Given the description of an element on the screen output the (x, y) to click on. 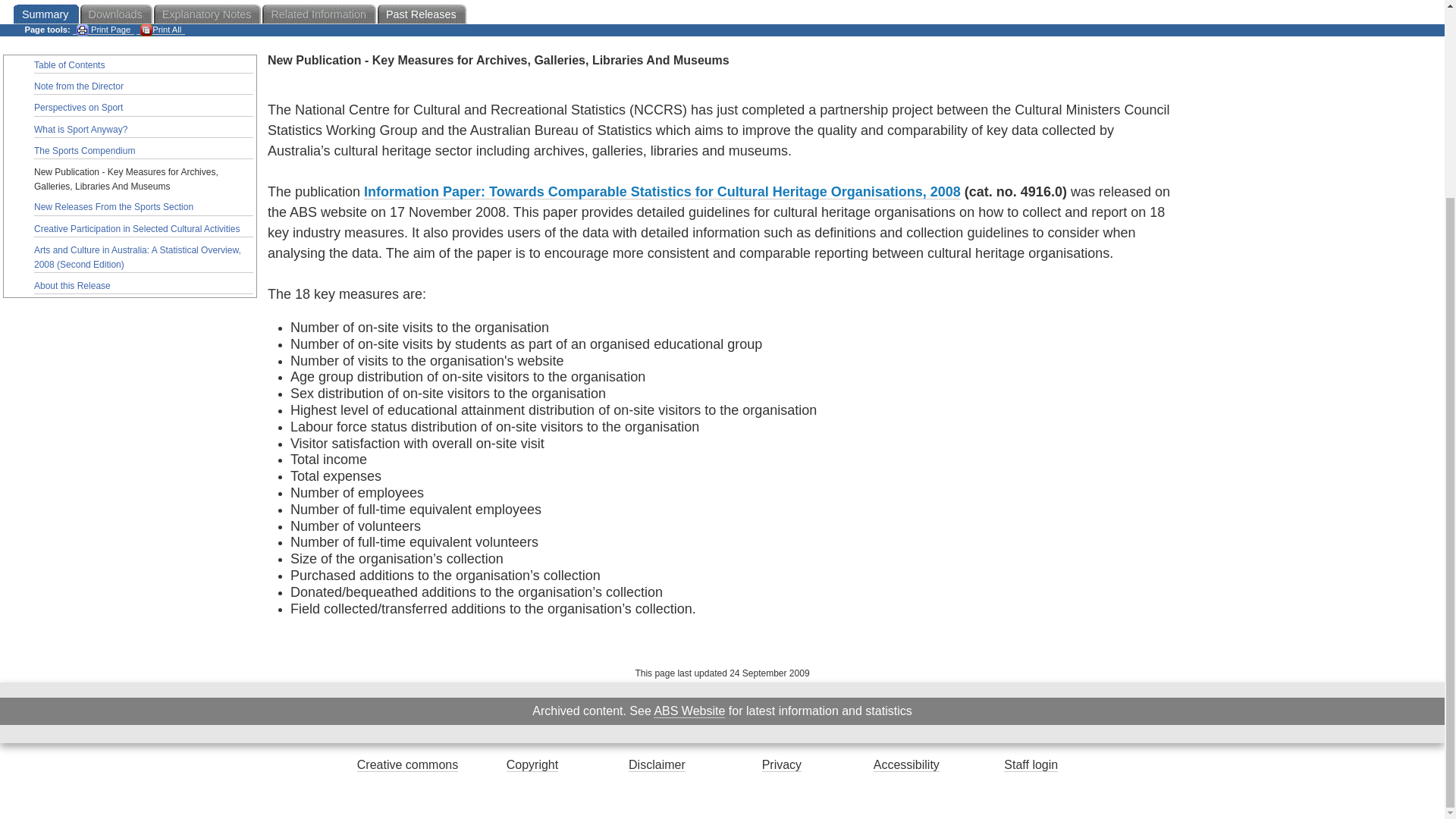
Print Page (102, 30)
New Releases From the Sports Section (143, 207)
Print All (160, 30)
About this Release (143, 286)
Summary (46, 14)
ABS Website (689, 711)
The Sports Compendium (143, 151)
What is Sport Anyway? (143, 130)
Print All (160, 30)
Creative Participation in Selected Cultural Activities (143, 228)
